Given the description of an element on the screen output the (x, y) to click on. 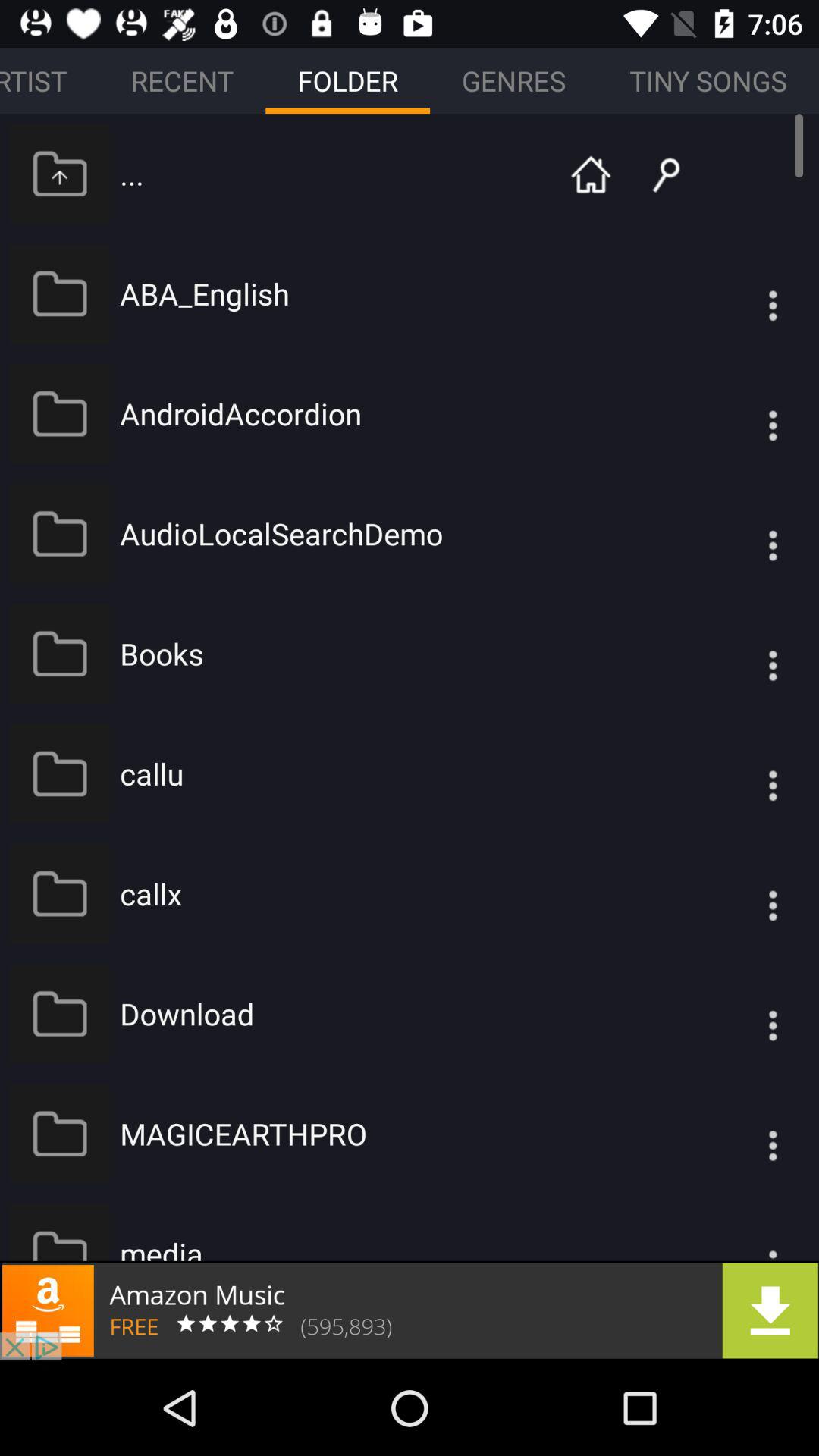
options (742, 1013)
